Given the description of an element on the screen output the (x, y) to click on. 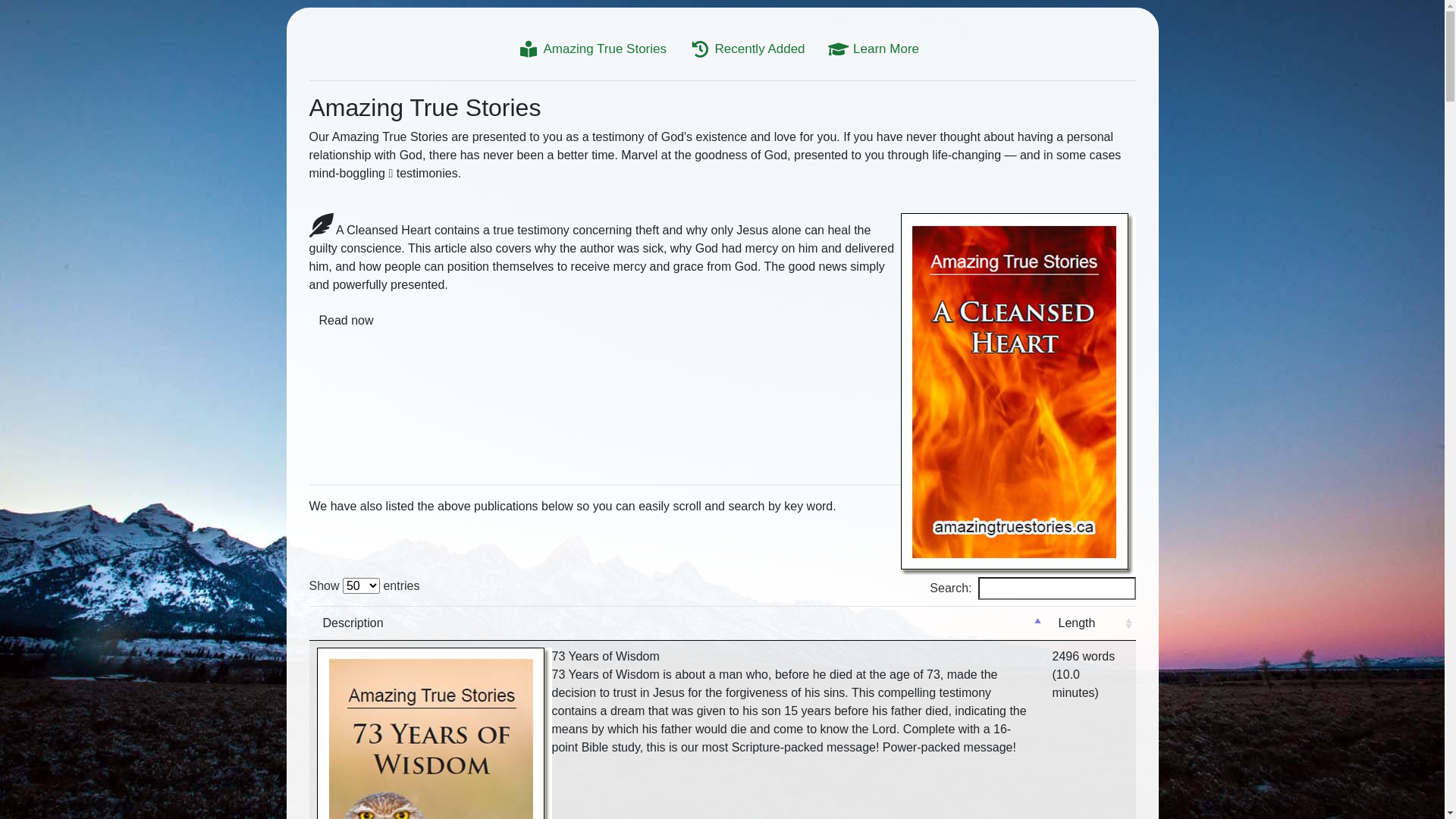
Read now Element type: text (346, 320)
Learn More Element type: text (873, 49)
A Cleansed Heart Element type: hover (1017, 395)
Recently Added Element type: text (746, 49)
Amazing True Stories Element type: text (592, 49)
